Given the description of an element on the screen output the (x, y) to click on. 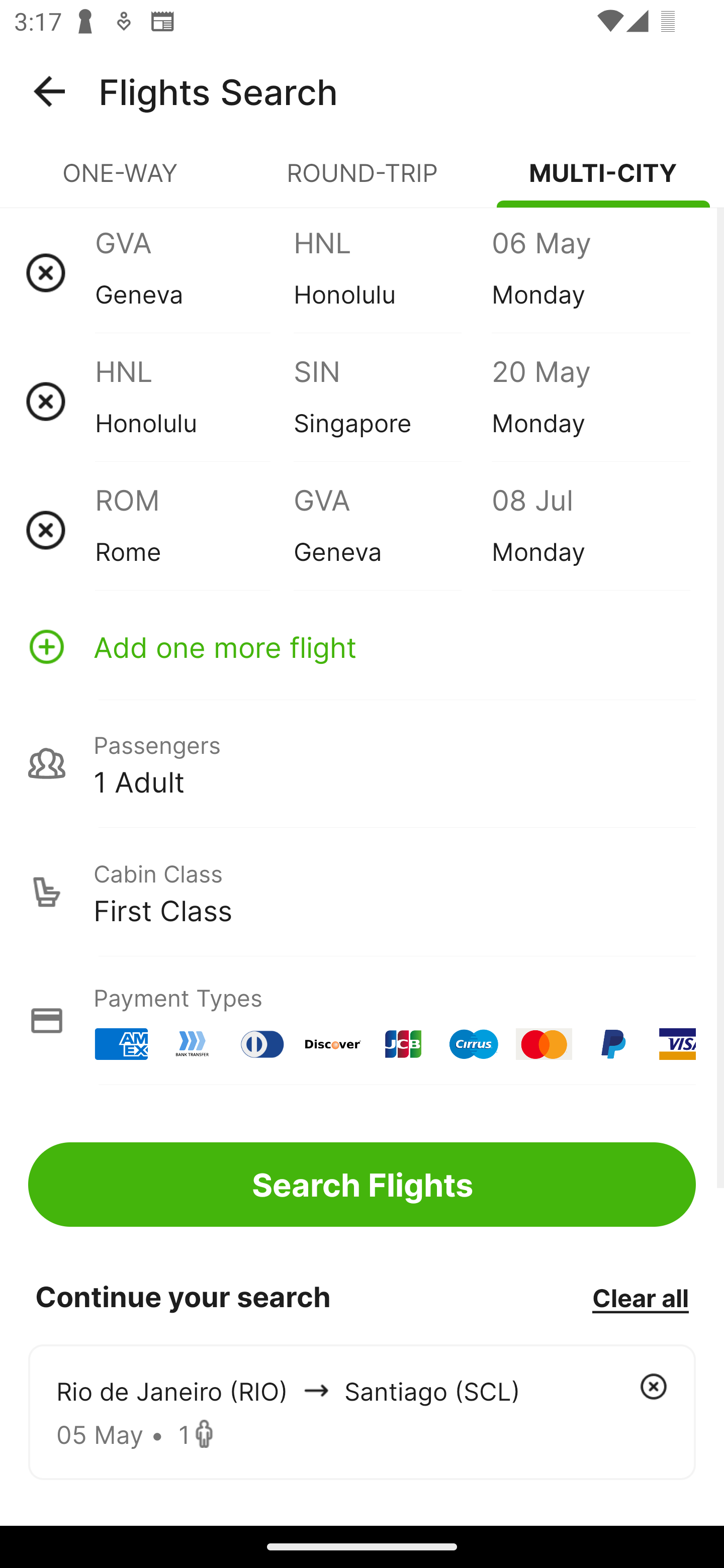
ONE-WAY (120, 180)
ROUND-TRIP (361, 180)
MULTI-CITY (603, 180)
GVA Geneva (193, 272)
HNL Honolulu (392, 272)
06 May Monday (590, 272)
HNL Honolulu (193, 401)
SIN Singapore (392, 401)
20 May Monday (590, 401)
ROM Rome (193, 529)
GVA Geneva (392, 529)
08 Jul Monday (590, 529)
Add one more flight (362, 646)
Passengers 1 Adult (362, 762)
Cabin Class First Class (362, 891)
Payment Types (362, 1020)
Search Flights (361, 1184)
Clear all (640, 1297)
